Given the description of an element on the screen output the (x, y) to click on. 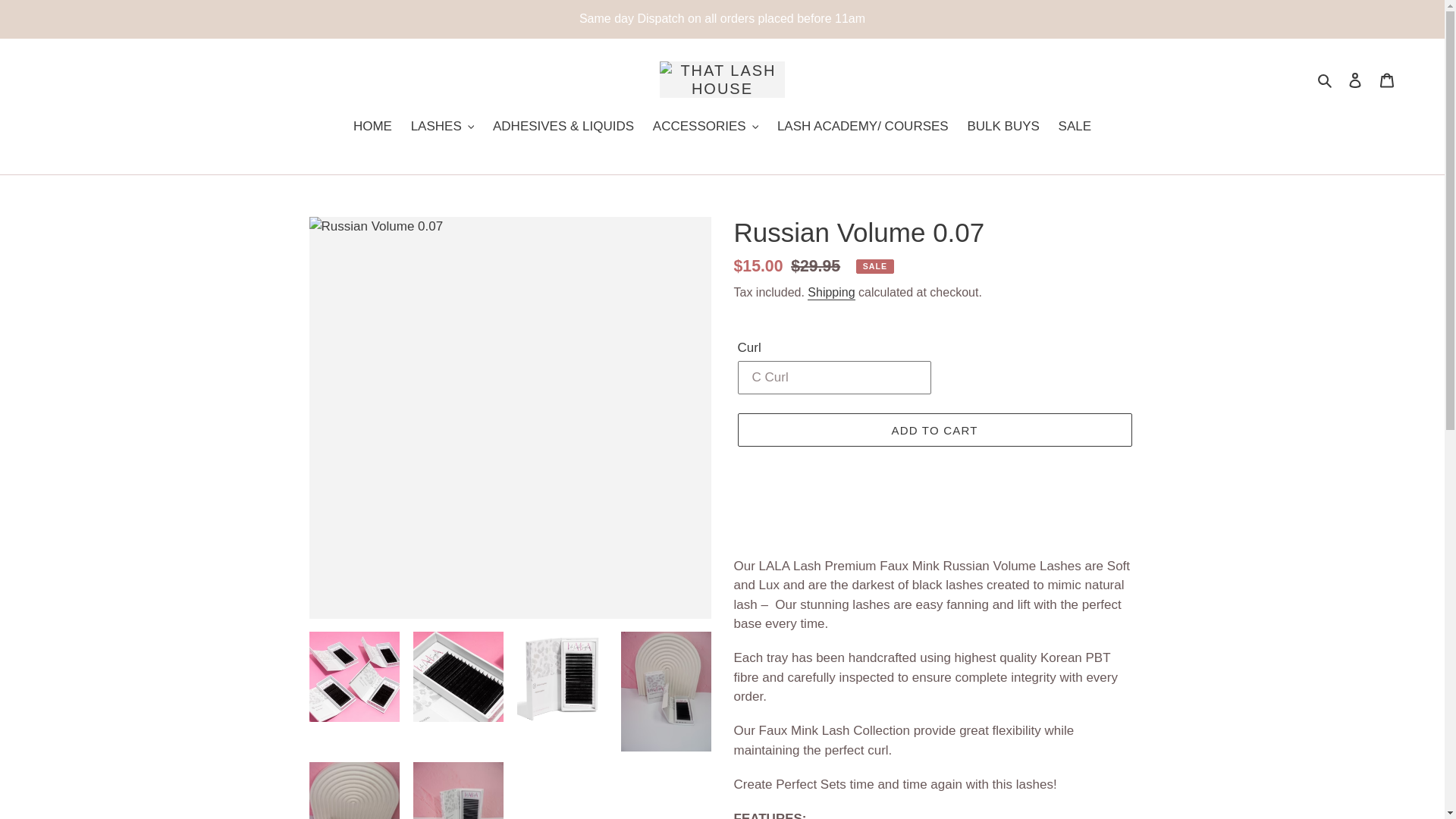
Search (1326, 79)
HOME (372, 127)
Cart (1387, 79)
Log in (1355, 79)
LASHES (442, 127)
